Given the description of an element on the screen output the (x, y) to click on. 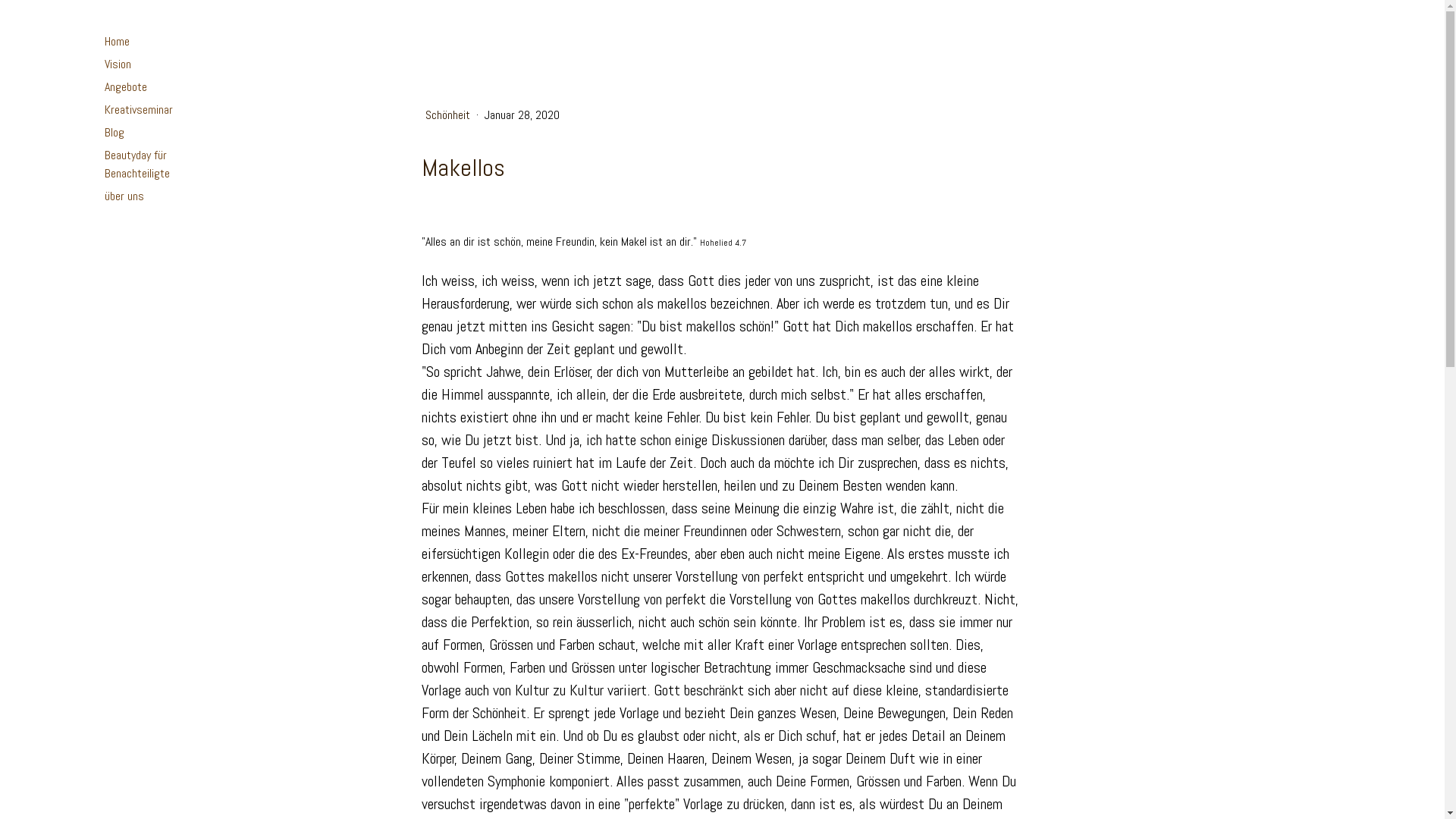
Kreativseminar Element type: text (147, 109)
Angebote Element type: text (147, 86)
Blog Element type: text (147, 132)
Home Element type: text (147, 41)
Vision Element type: text (147, 64)
